Given the description of an element on the screen output the (x, y) to click on. 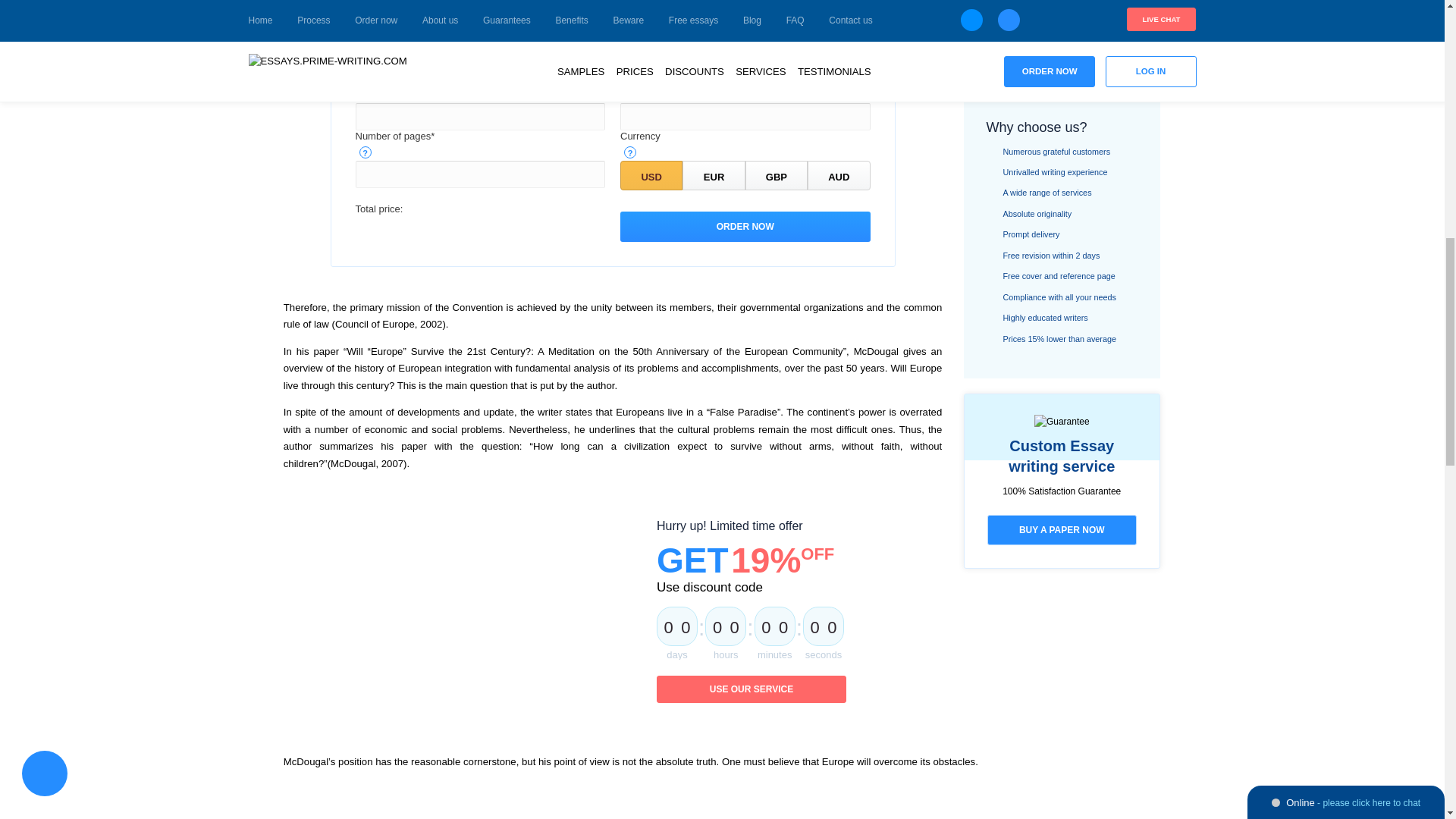
BUY A PAPER NOW (1062, 530)
EUR (713, 175)
Search (1061, 51)
AUD (838, 175)
GBP (776, 175)
USD (651, 175)
Search (1061, 51)
Order now (745, 226)
Order now (745, 226)
